Given the description of an element on the screen output the (x, y) to click on. 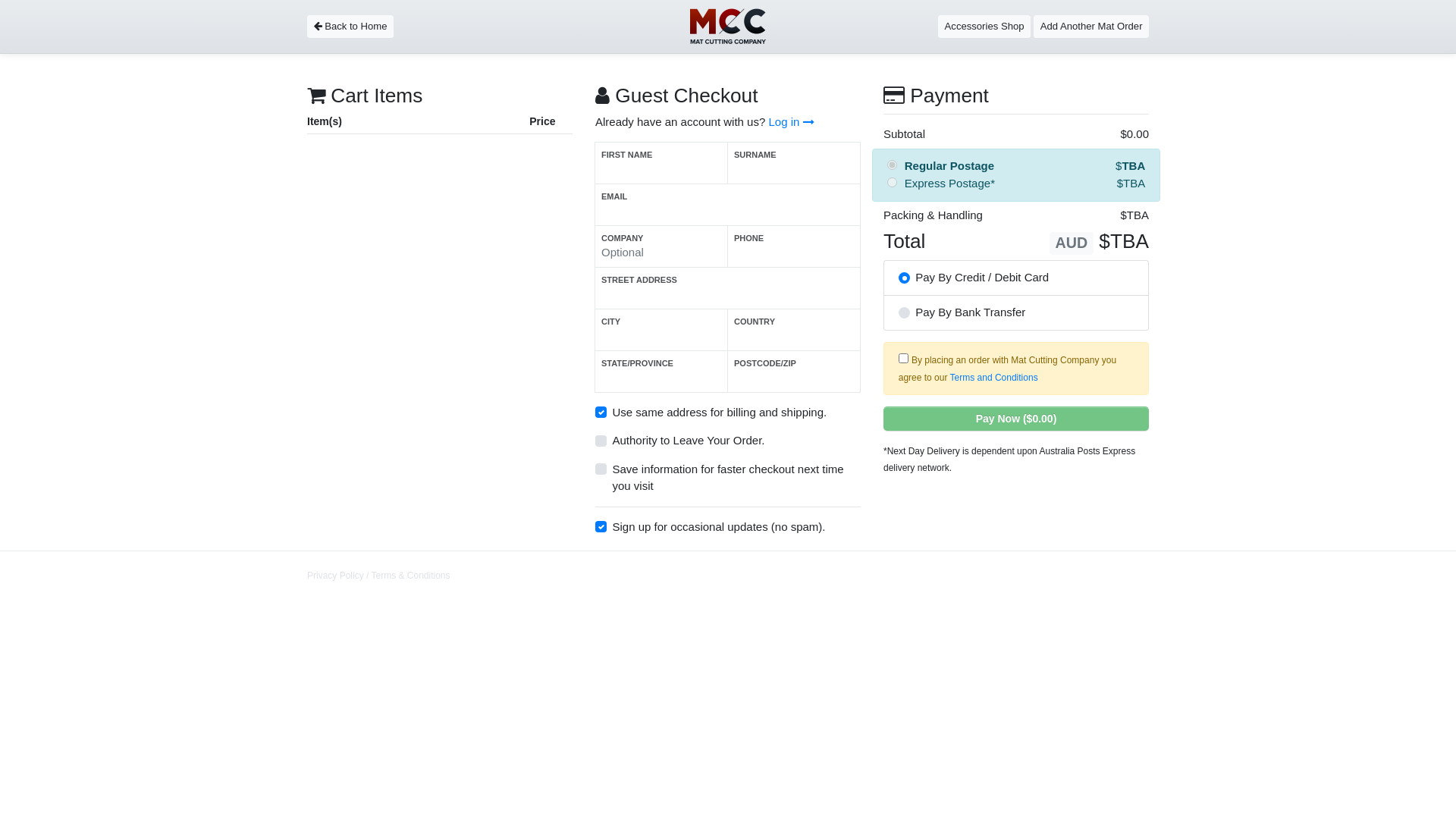
Log in Element type: text (790, 121)
Accessories Shop Element type: text (984, 26)
Privacy Policy / Terms & Conditions Element type: text (378, 575)
Terms and Conditions Element type: text (994, 377)
Add Another Mat Order Element type: text (1090, 26)
Pay Now ($0.00) Element type: text (1015, 418)
Back to Home Element type: text (350, 26)
